Given the description of an element on the screen output the (x, y) to click on. 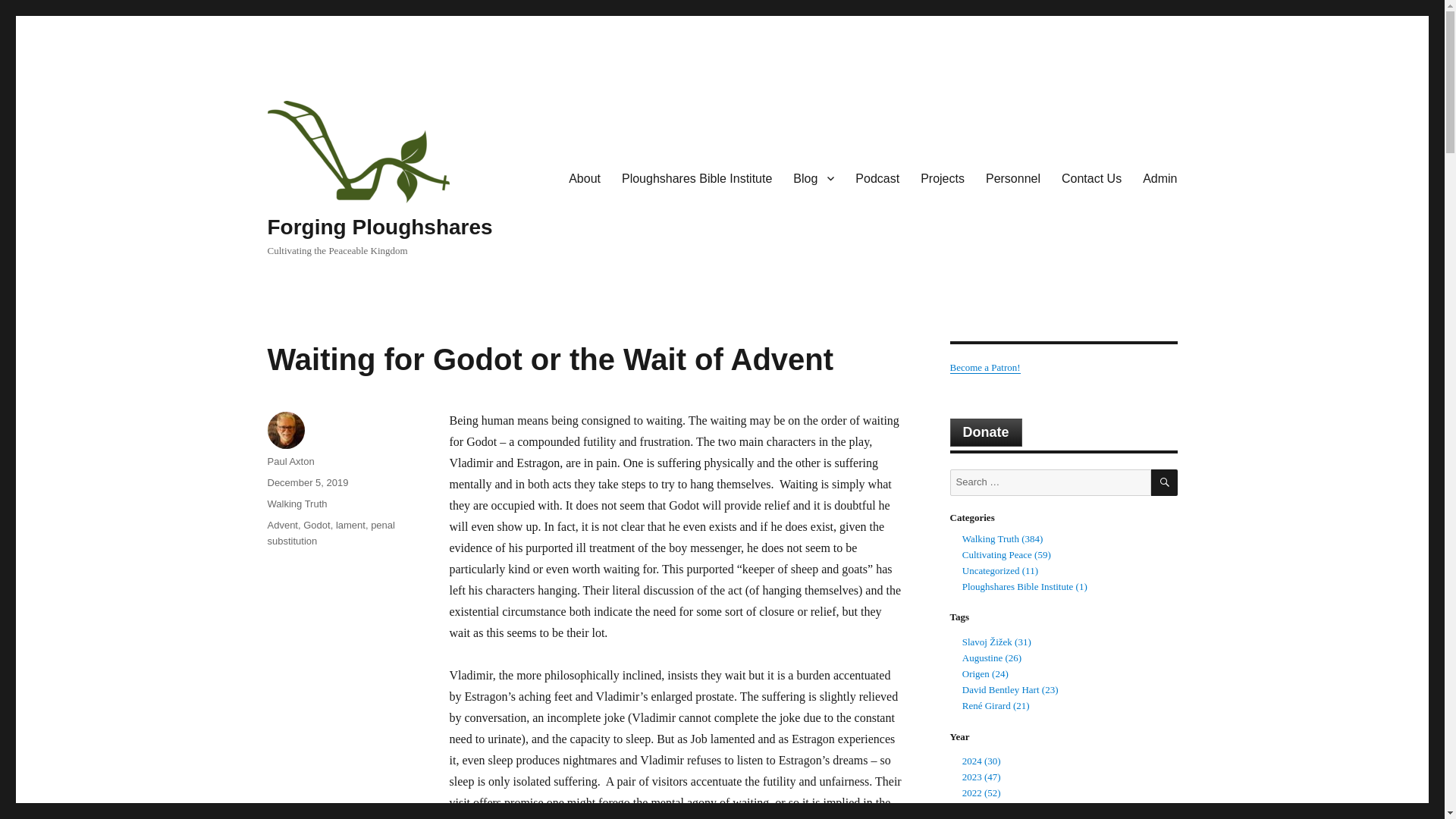
Podcast (877, 178)
lament (350, 524)
Contact Us (1091, 178)
Paul Axton (290, 460)
Advent (281, 524)
Projects (942, 178)
penal substitution (330, 533)
Blog (813, 178)
Forging Ploughshares (379, 227)
December 5, 2019 (306, 482)
Ploughshares Bible Institute (697, 178)
Godot (316, 524)
Personnel (1013, 178)
Walking Truth (296, 503)
About (584, 178)
